Given the description of an element on the screen output the (x, y) to click on. 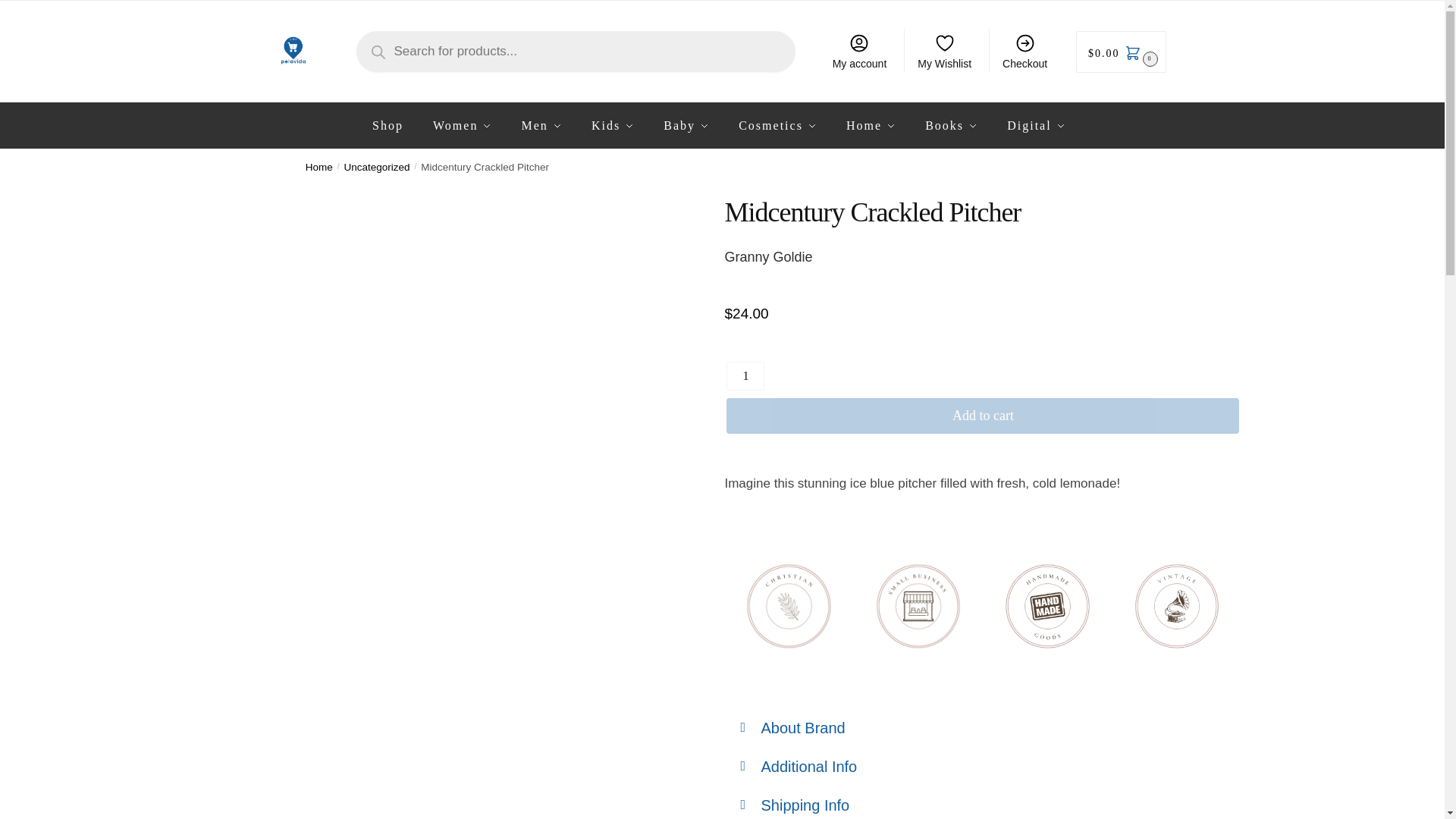
1 (745, 375)
My Wishlist (943, 50)
Checkout (1024, 50)
View your shopping cart (1120, 51)
Women (461, 125)
Men (542, 125)
Kids (612, 125)
My account (858, 50)
